Given the description of an element on the screen output the (x, y) to click on. 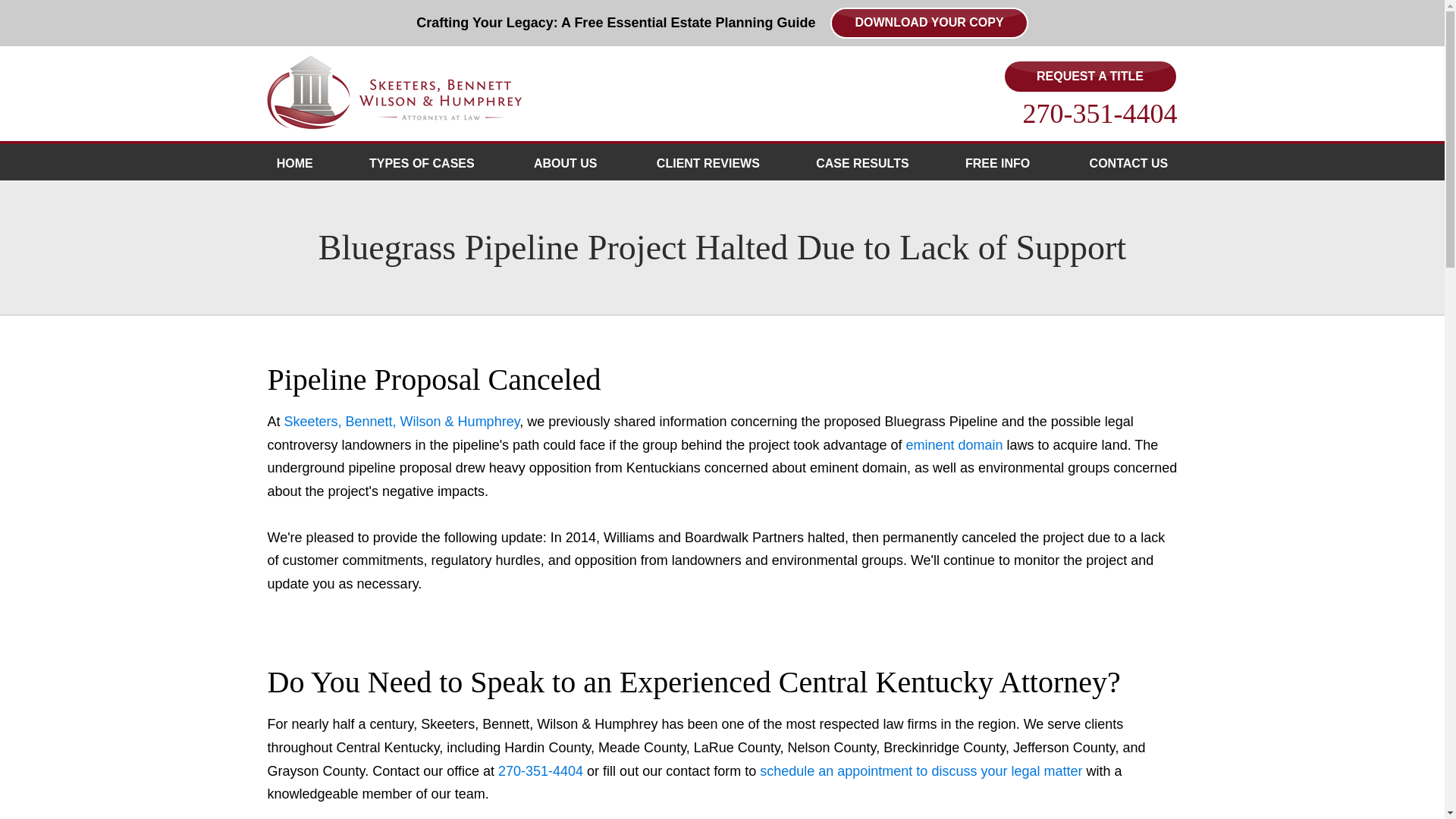
TYPES OF CASES (422, 162)
270-351-4404 (1100, 113)
HOME (294, 162)
DOWNLOAD YOUR COPY (928, 22)
REQUEST A TITLE (1089, 76)
ABOUT US (566, 162)
